Given the description of an element on the screen output the (x, y) to click on. 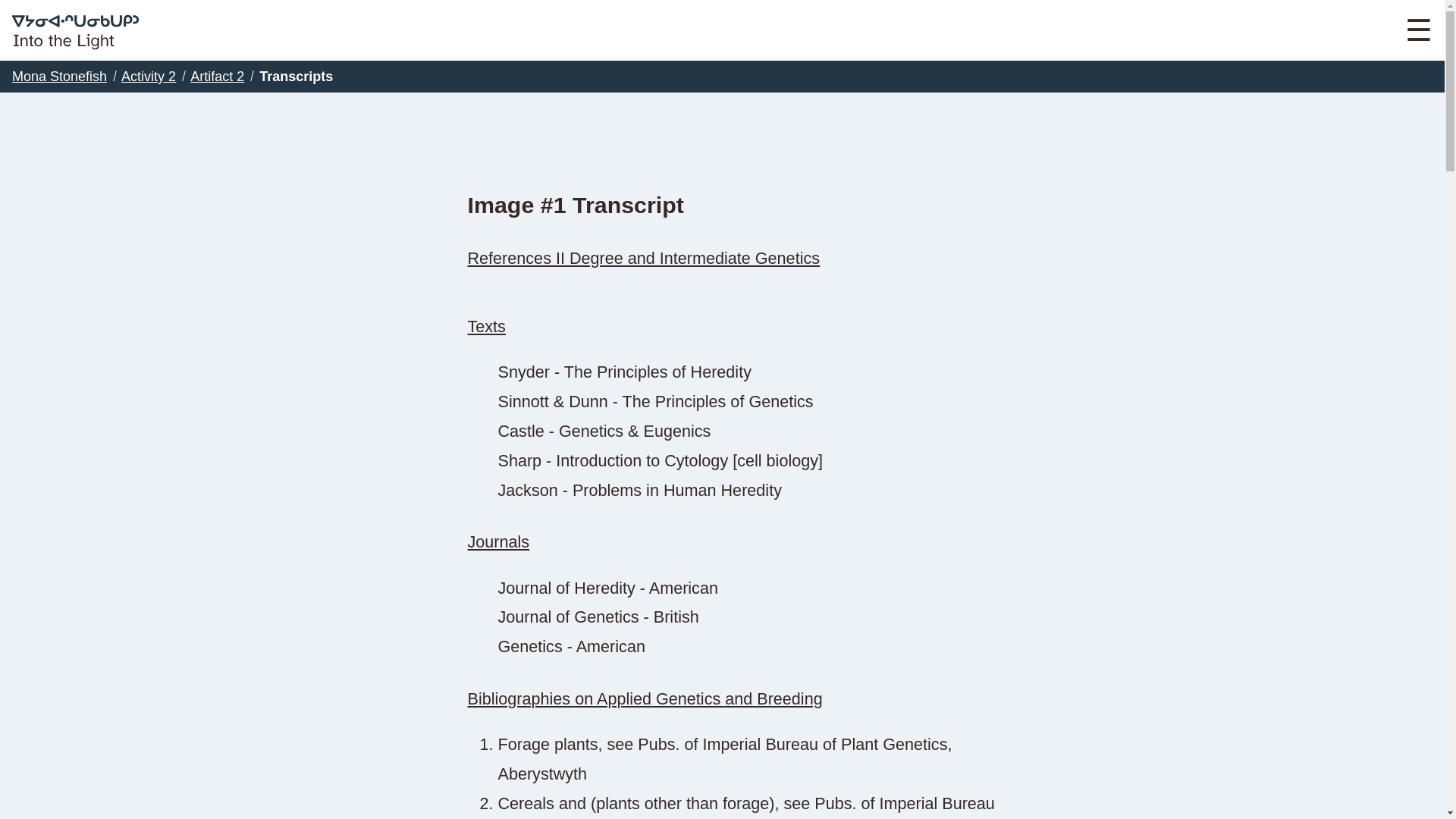
Transcripts (296, 76)
Mona Stonefish (58, 76)
Activity 2 (148, 76)
Artifact 2 (217, 76)
